Given the description of an element on the screen output the (x, y) to click on. 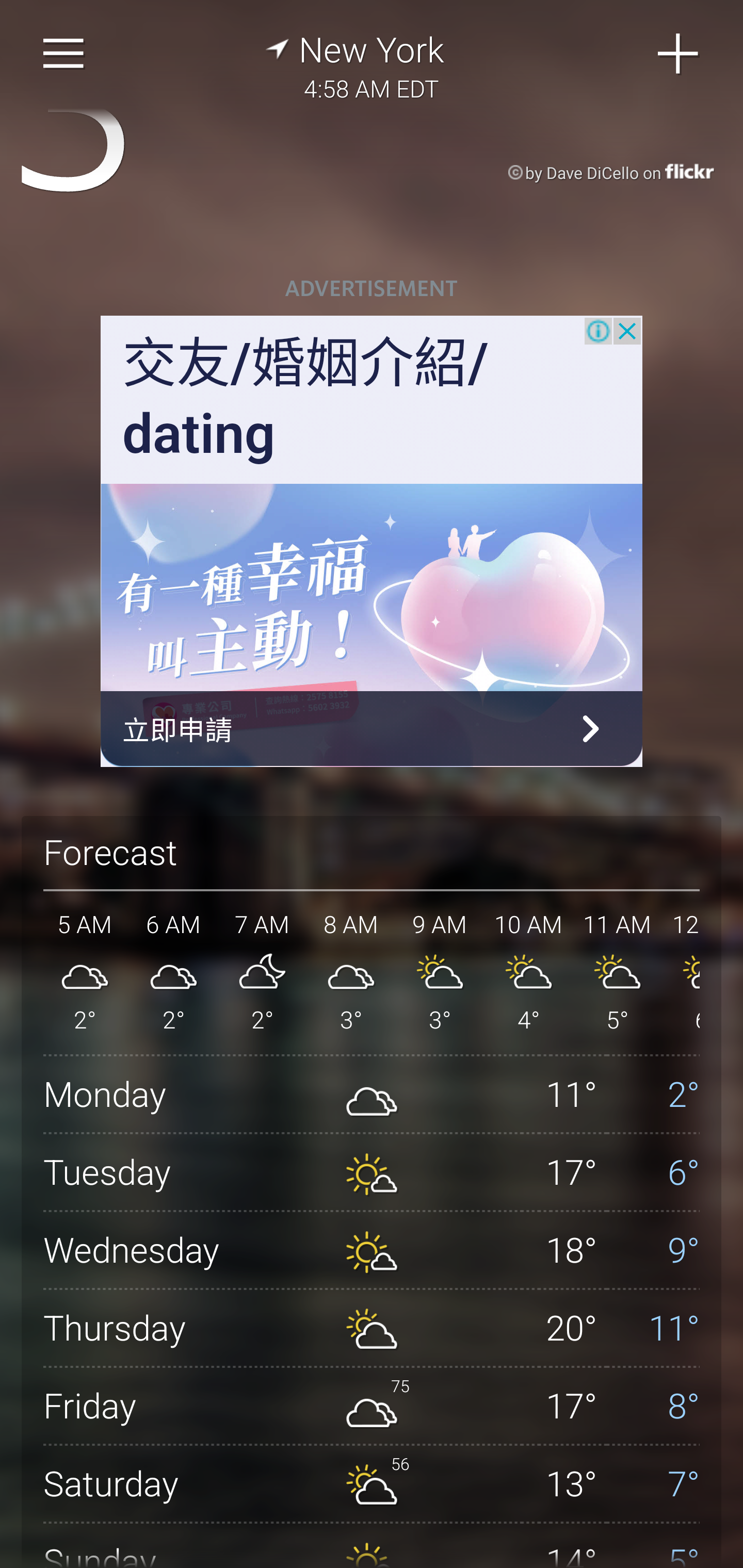
Sidebar (64, 54)
Add City (678, 53)
交友/婚姻介紹/ dating 交友/婚姻介紹/ 
 dating (305, 399)
立即申請 (371, 728)
